Given the description of an element on the screen output the (x, y) to click on. 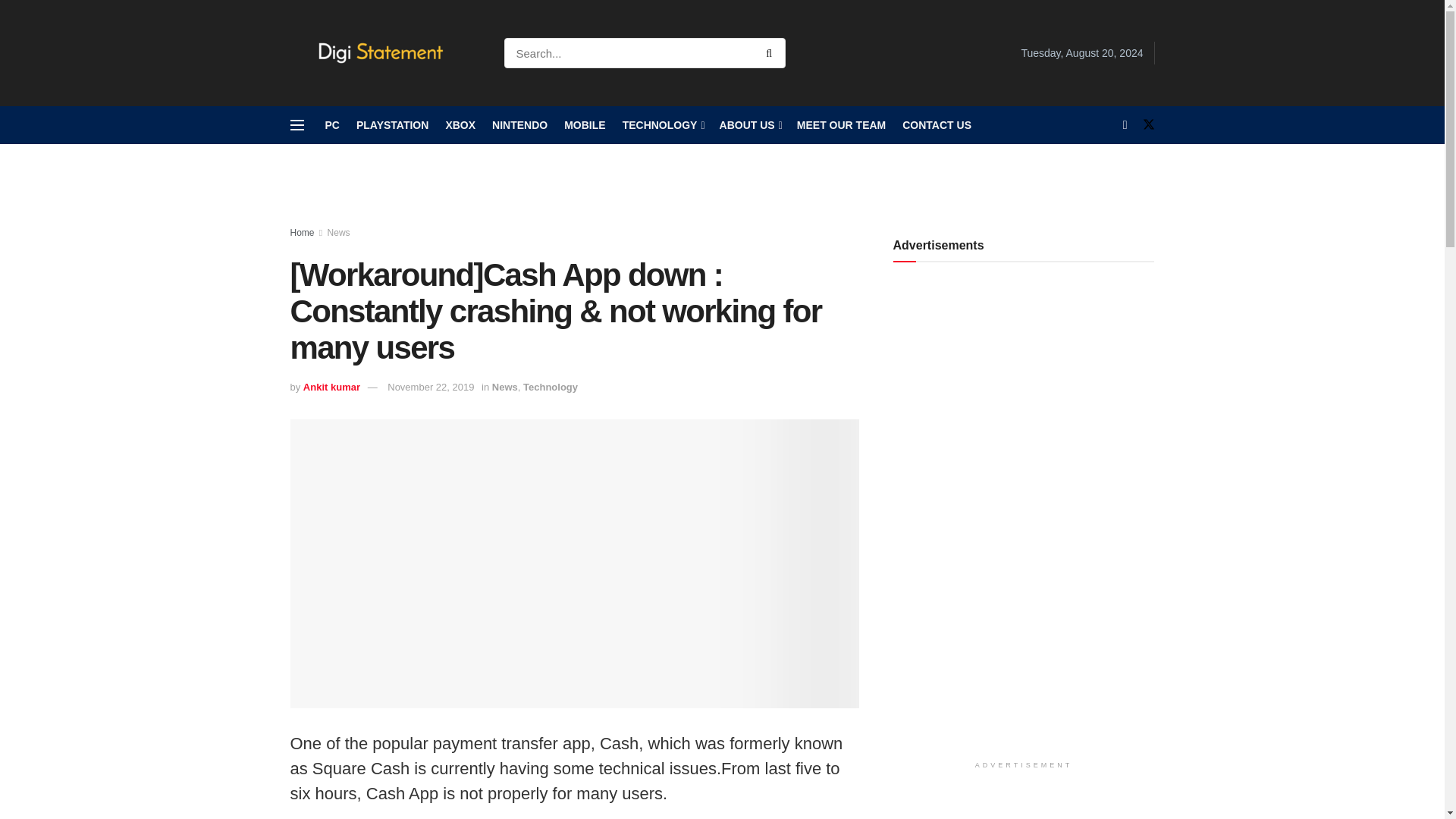
MEET OUR TEAM (840, 125)
CONTACT US (936, 125)
ABOUT US (749, 125)
NINTENDO (519, 125)
MOBILE (584, 125)
PLAYSTATION (392, 125)
TECHNOLOGY (663, 125)
